Given the description of an element on the screen output the (x, y) to click on. 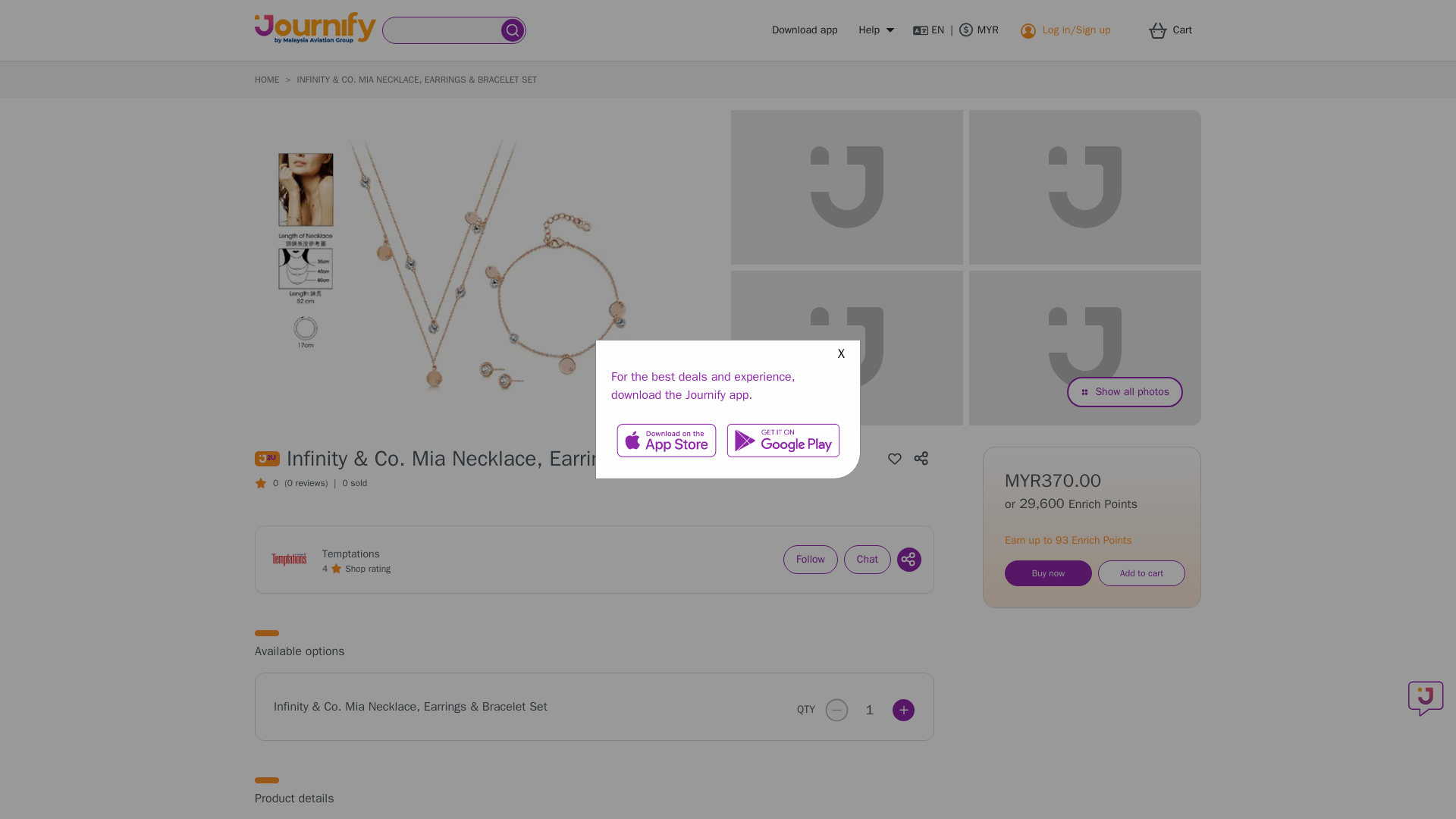
Cart (1174, 30)
Buy now (1048, 573)
HOME (266, 79)
Temptations (350, 553)
EN (927, 29)
MYR (978, 29)
Initiate search (512, 29)
Download app (804, 29)
Chat (867, 559)
Help (875, 29)
Show all photos (1124, 391)
Add to cart (1141, 573)
Search (442, 30)
Follow (810, 559)
